Given the description of an element on the screen output the (x, y) to click on. 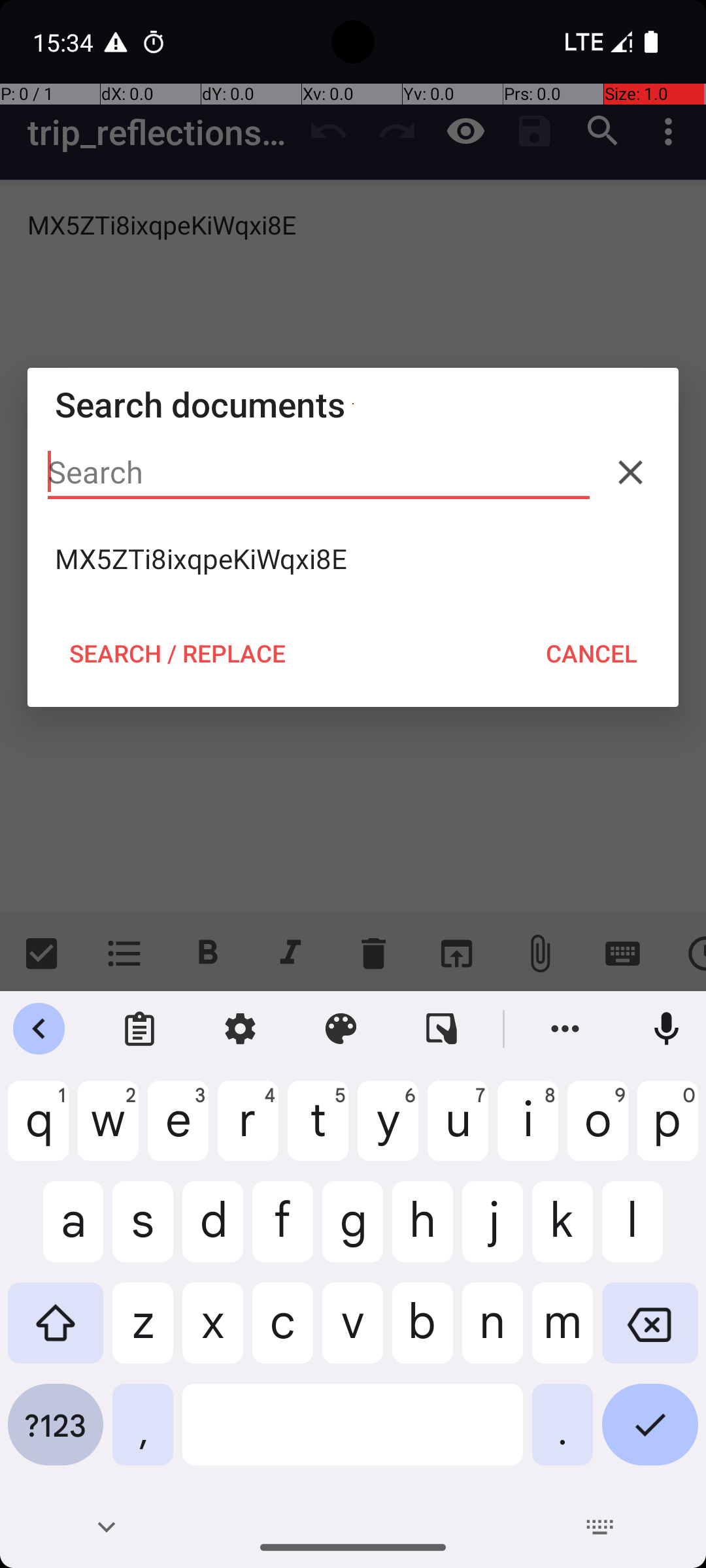
Search documents Element type: android.widget.TextView (352, 403)
MX5ZTi8ixqpeKiWqxi8E Element type: android.widget.TextView (352, 558)
SEARCH / REPLACE Element type: android.widget.Button (176, 652)
Theme settings Element type: android.widget.FrameLayout (340, 1028)
One handed mode Element type: android.widget.FrameLayout (441, 1028)
